Given the description of an element on the screen output the (x, y) to click on. 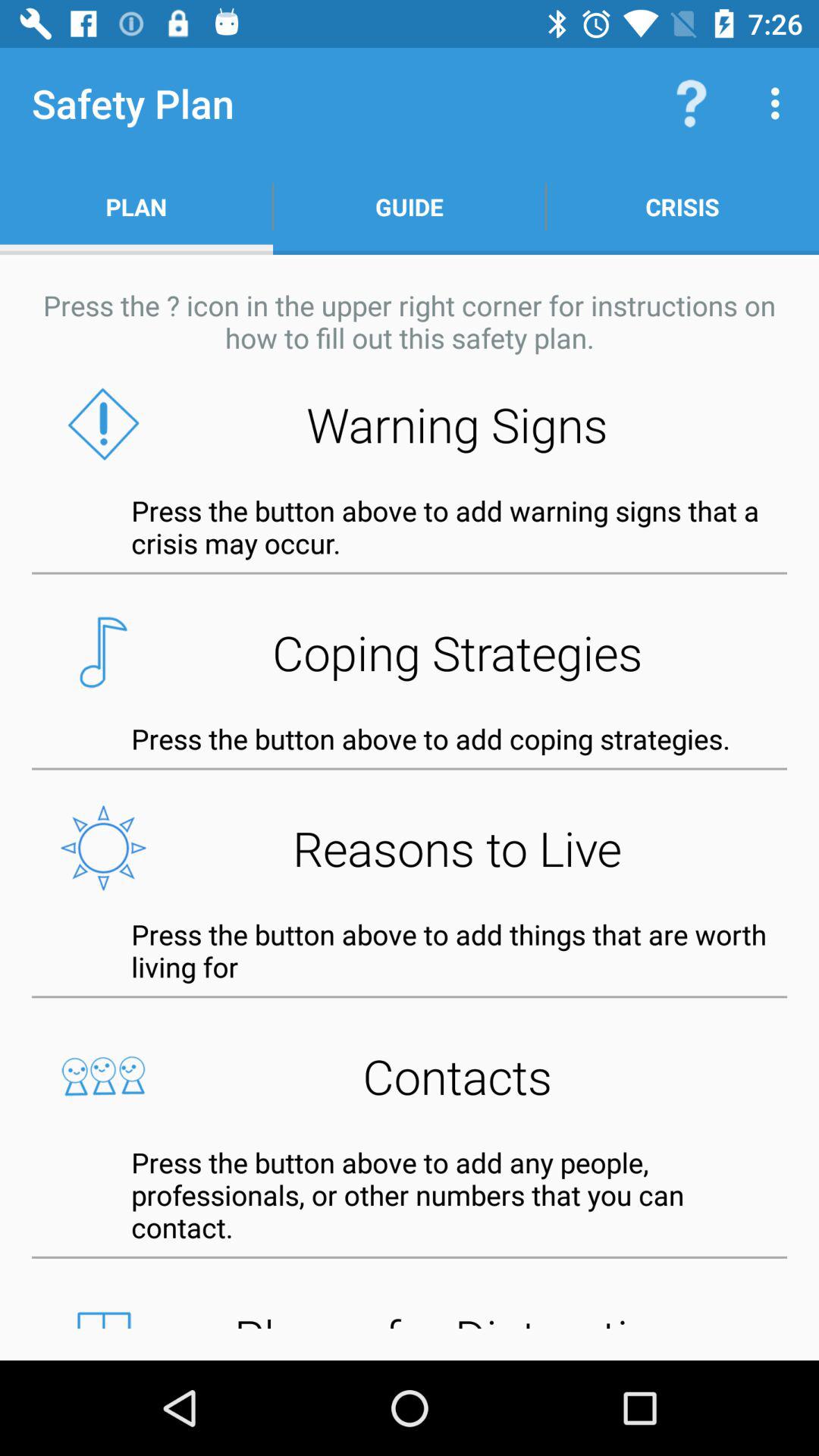
turn off the reasons to live item (409, 847)
